Given the description of an element on the screen output the (x, y) to click on. 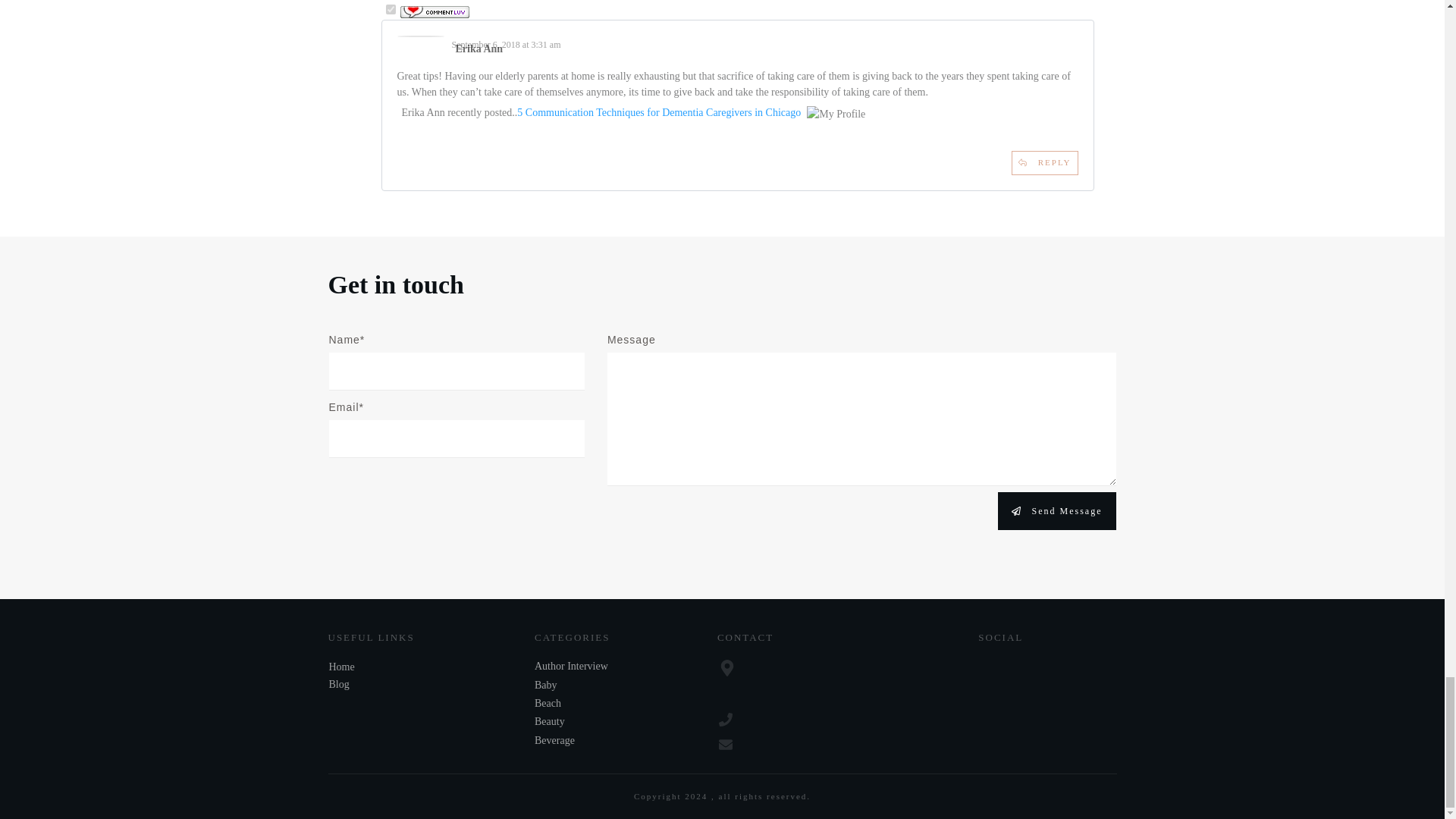
on (389, 9)
CommentLuv is enabled (434, 10)
